Given the description of an element on the screen output the (x, y) to click on. 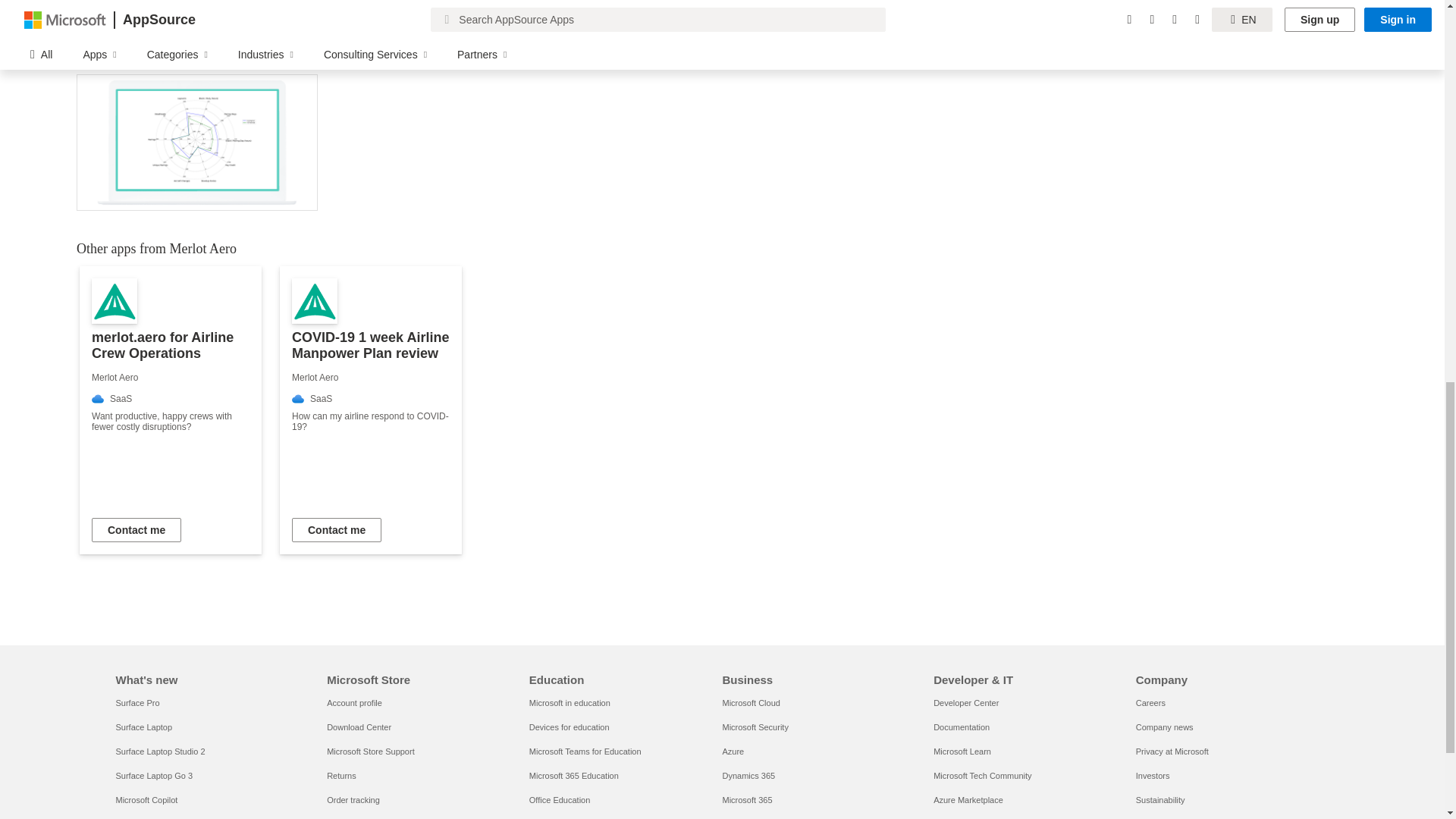
Contact me (336, 529)
Microsoft Copilot (146, 799)
Surface Laptop Studio 2 (160, 750)
Surface Laptop Go 3 (153, 775)
Microsoft Store Support (370, 750)
Surface Pro (136, 702)
Account profile (353, 702)
Surface Laptop (143, 727)
Contact me (135, 529)
Download Center (358, 727)
Returns (341, 775)
